Given the description of an element on the screen output the (x, y) to click on. 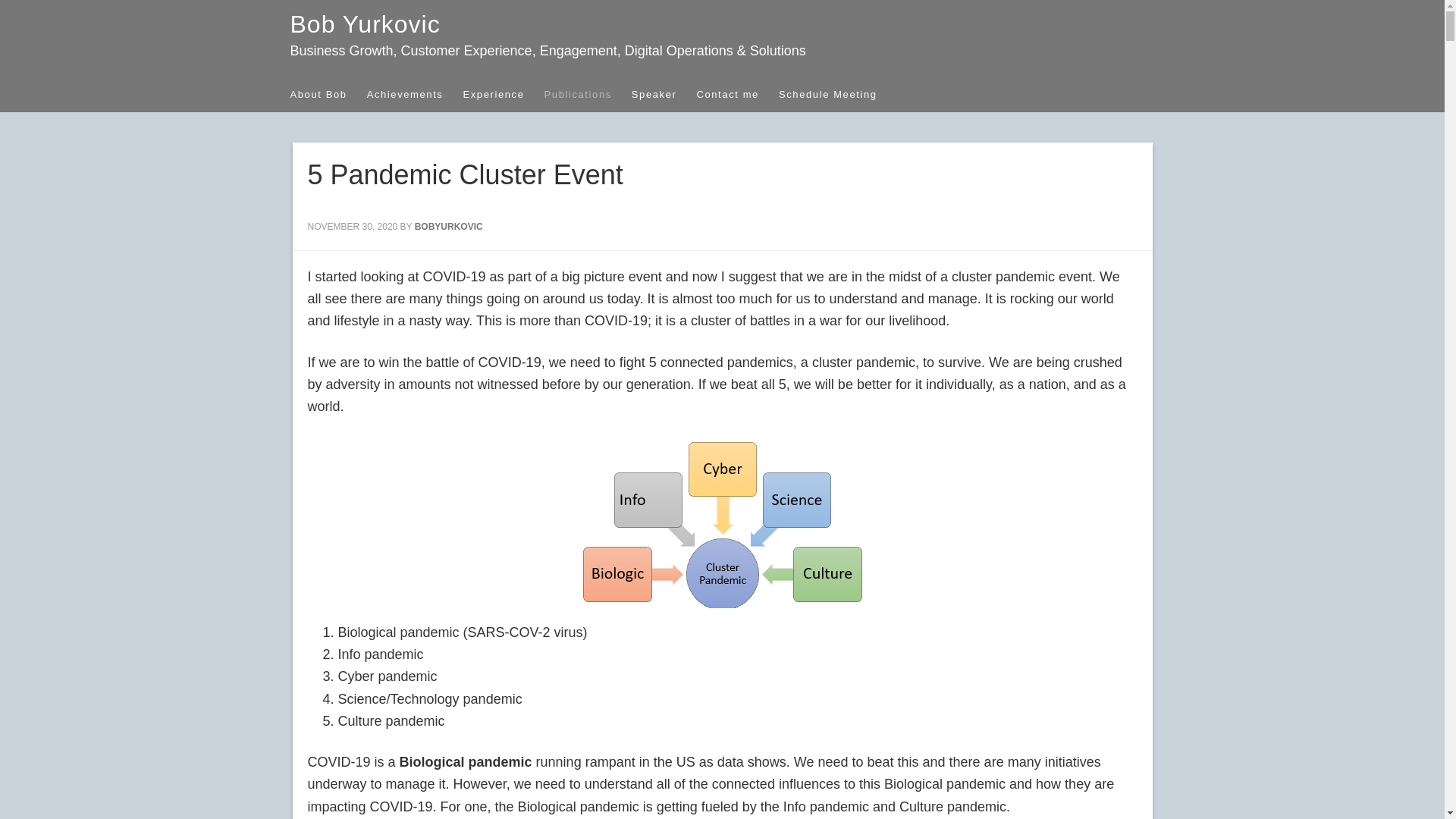
BOBYURKOVIC (448, 226)
Achievements (414, 94)
Bob Yurkovic (364, 23)
Speaker (664, 94)
Schedule Meeting (837, 94)
Contact me (736, 94)
About Bob (327, 94)
Publications (587, 94)
Experience (503, 94)
5 Pandemic Cluster Event (465, 174)
